Given the description of an element on the screen output the (x, y) to click on. 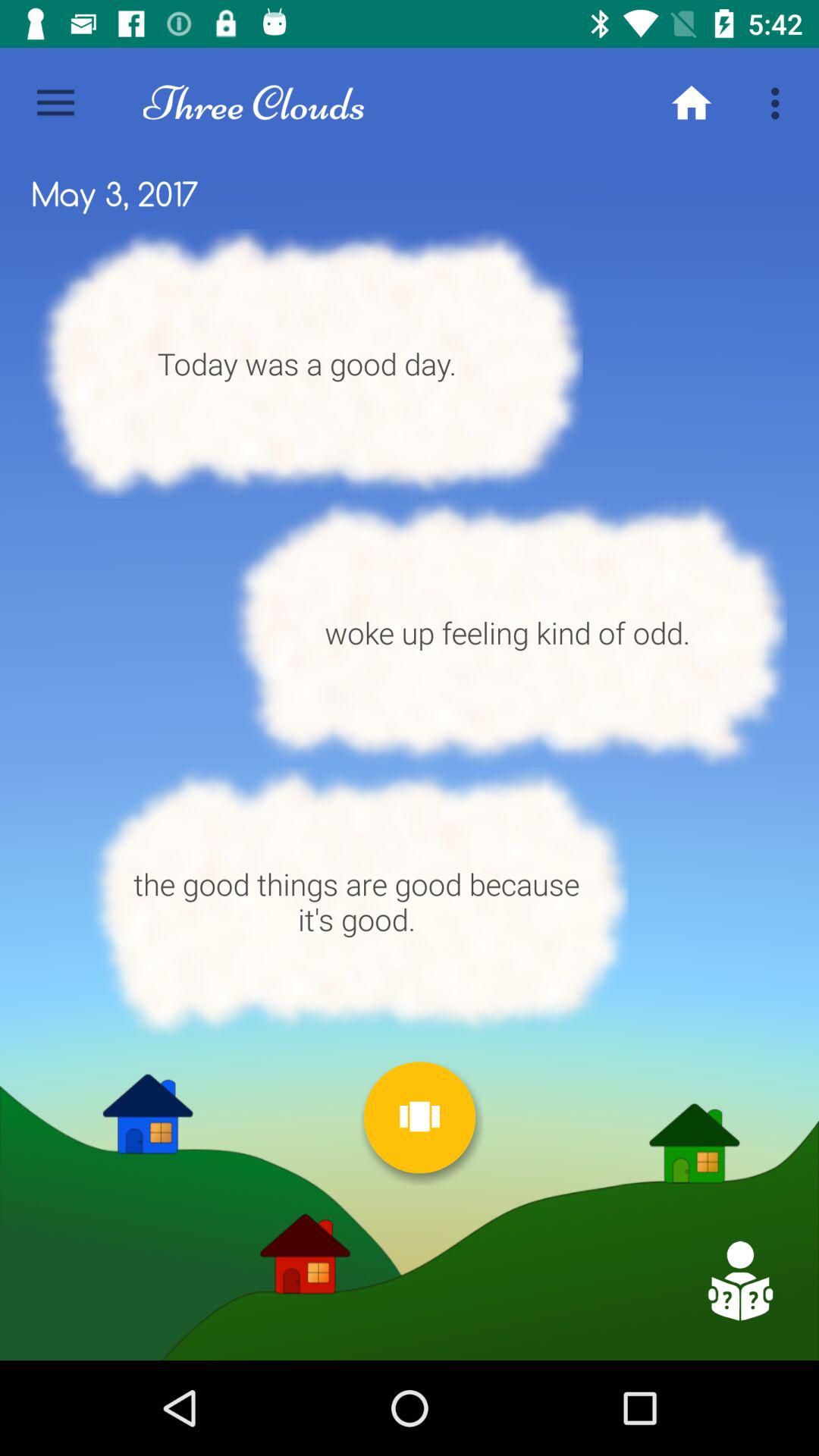
see more (419, 1117)
